Given the description of an element on the screen output the (x, y) to click on. 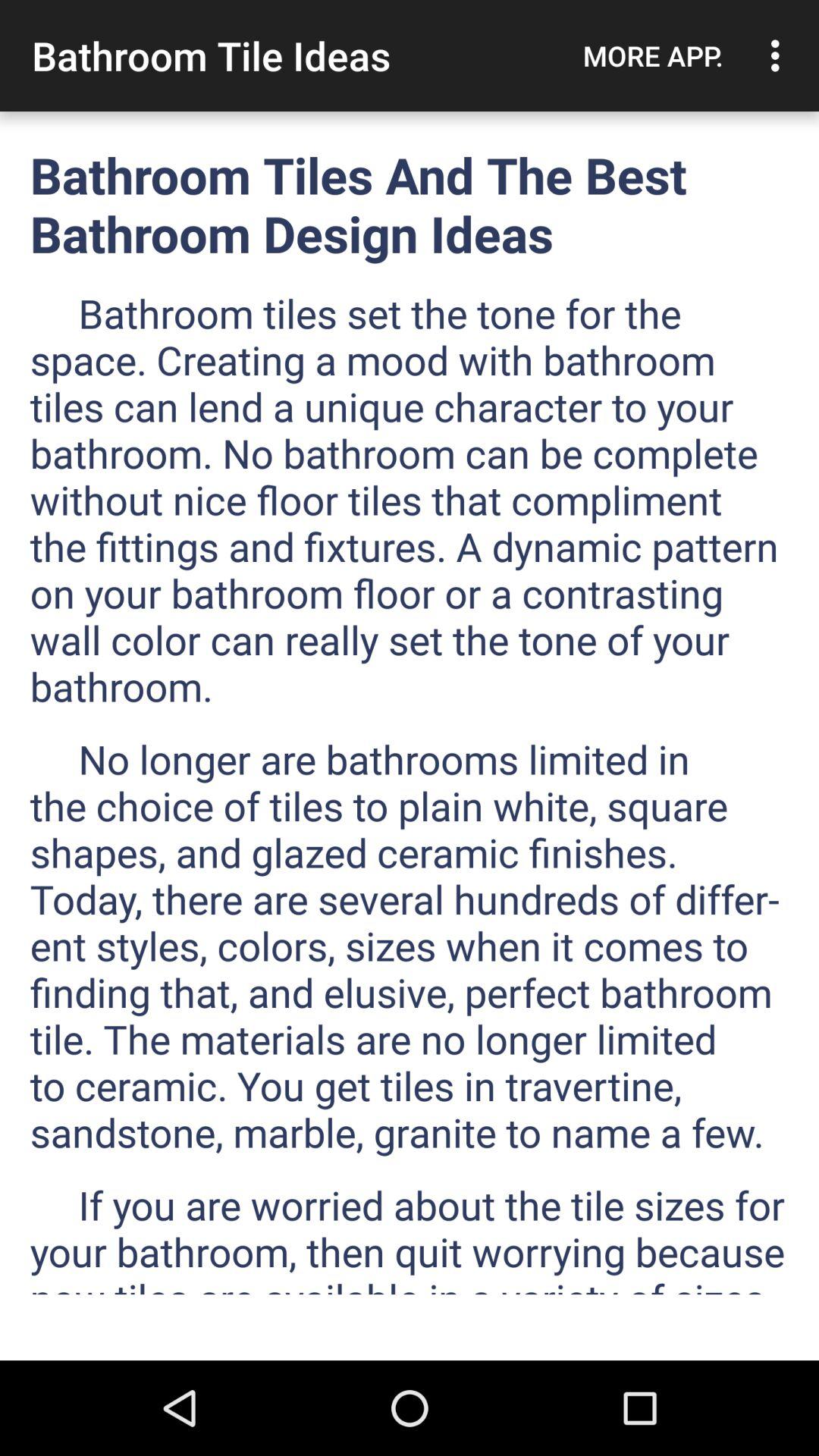
select the item above bathroom tiles and app (653, 55)
